Given the description of an element on the screen output the (x, y) to click on. 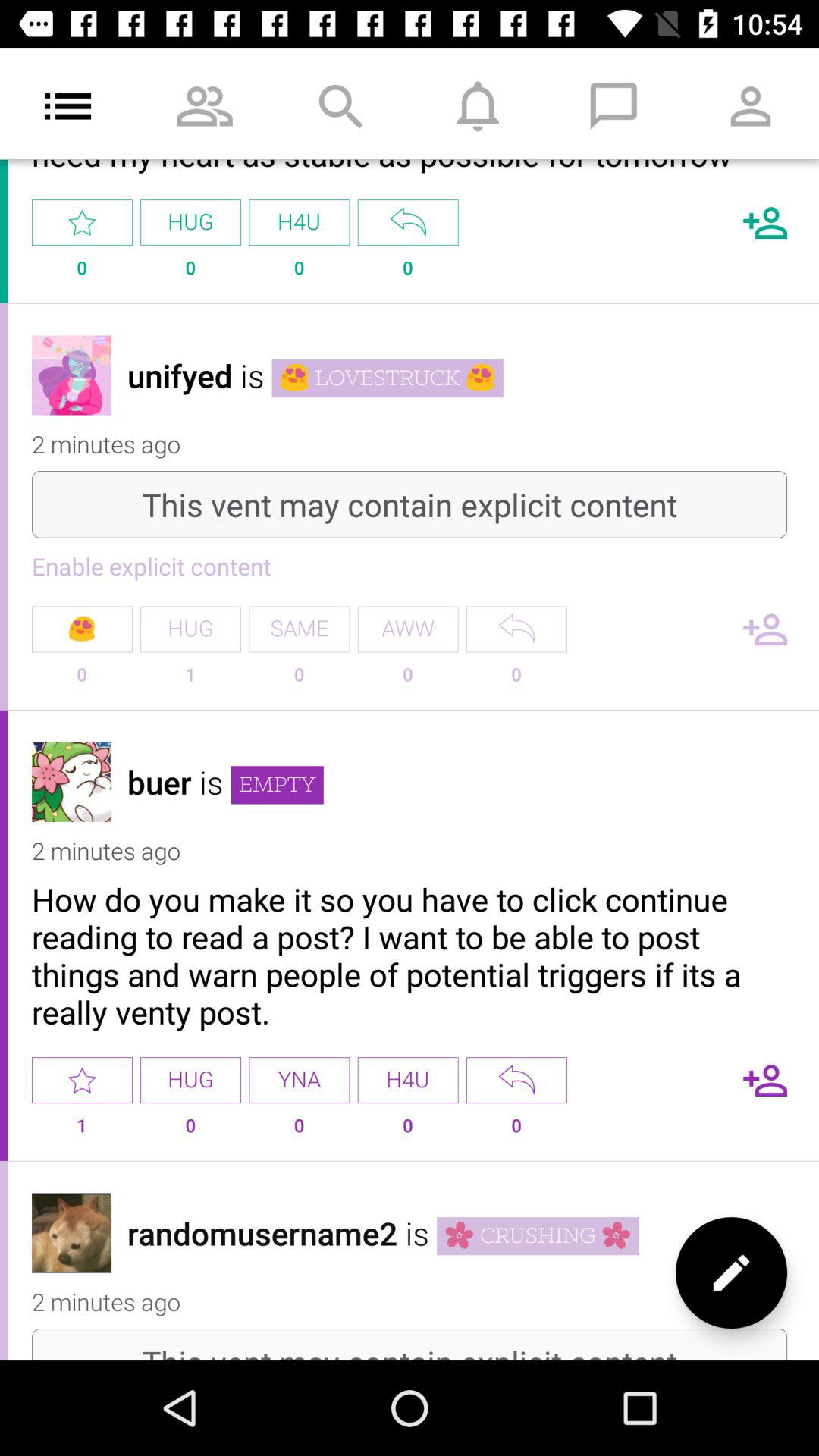
go to previous (516, 629)
